Given the description of an element on the screen output the (x, y) to click on. 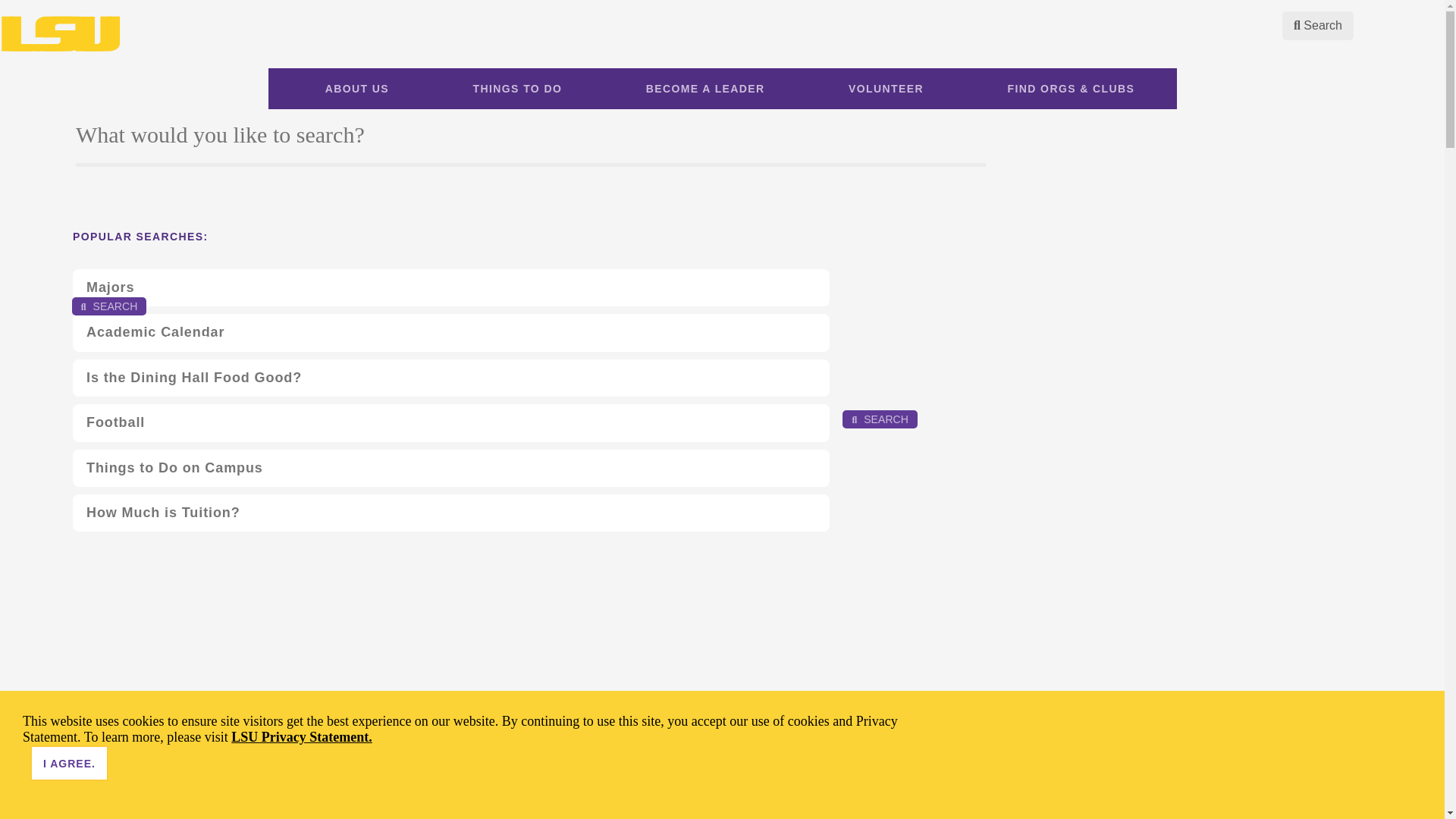
Visit giveLSU.org (763, 416)
GIVE (146, 242)
VISIT (816, 416)
CAMPUS CRIME STATS (83, 242)
MYLSU (633, 416)
CAMPUS LIFE (197, 340)
VISIT (198, 242)
SEARCH (880, 419)
SEARCH (109, 306)
MYLSU (16, 242)
APPLY (172, 242)
APPLY (789, 416)
Menu (178, 304)
Visit giveLSU.org (146, 242)
